Given the description of an element on the screen output the (x, y) to click on. 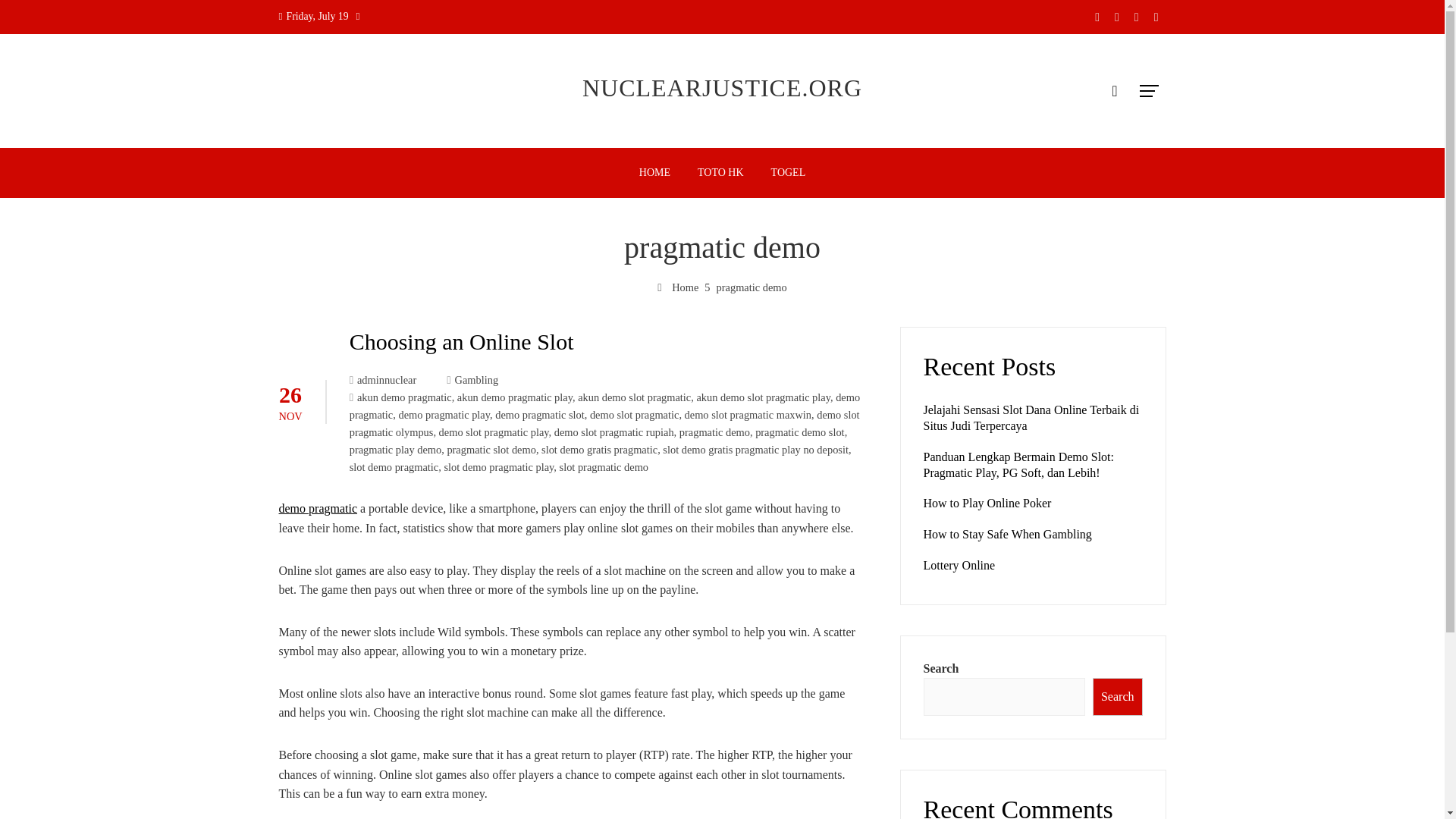
TOGEL (788, 173)
pragmatic demo (714, 431)
demo pragmatic play (443, 414)
slot demo pragmatic play (498, 467)
demo slot pragmatic olympus (604, 423)
Home (678, 287)
demo slot pragmatic rupiah (614, 431)
pragmatic slot demo (490, 449)
demo slot pragmatic (634, 414)
slot demo gratis pragmatic (599, 449)
NUCLEARJUSTICE.ORG (721, 87)
demo pragmatic slot (540, 414)
Choosing an Online Slot (461, 341)
TOTO HK (720, 173)
demo slot pragmatic maxwin (747, 414)
